Given the description of an element on the screen output the (x, y) to click on. 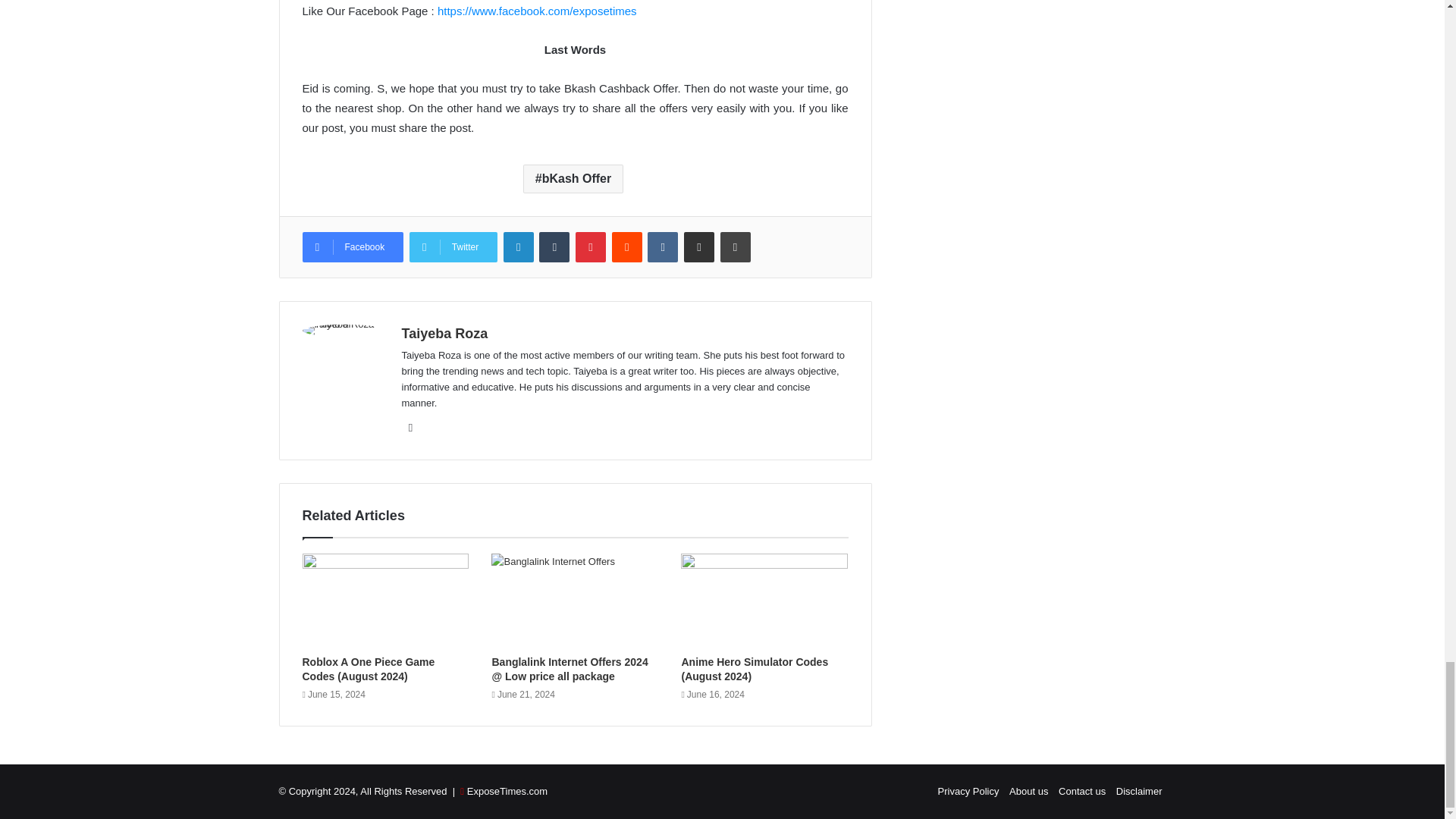
Share via Email (699, 246)
Facebook (352, 246)
Tumblr (553, 246)
Twitter (453, 246)
Facebook (352, 246)
Tumblr (553, 246)
Print (735, 246)
VKontakte (662, 246)
Share via Email (699, 246)
Twitter (453, 246)
Pinterest (590, 246)
VKontakte (662, 246)
LinkedIn (518, 246)
bKash Offer (572, 178)
Pinterest (590, 246)
